Given the description of an element on the screen output the (x, y) to click on. 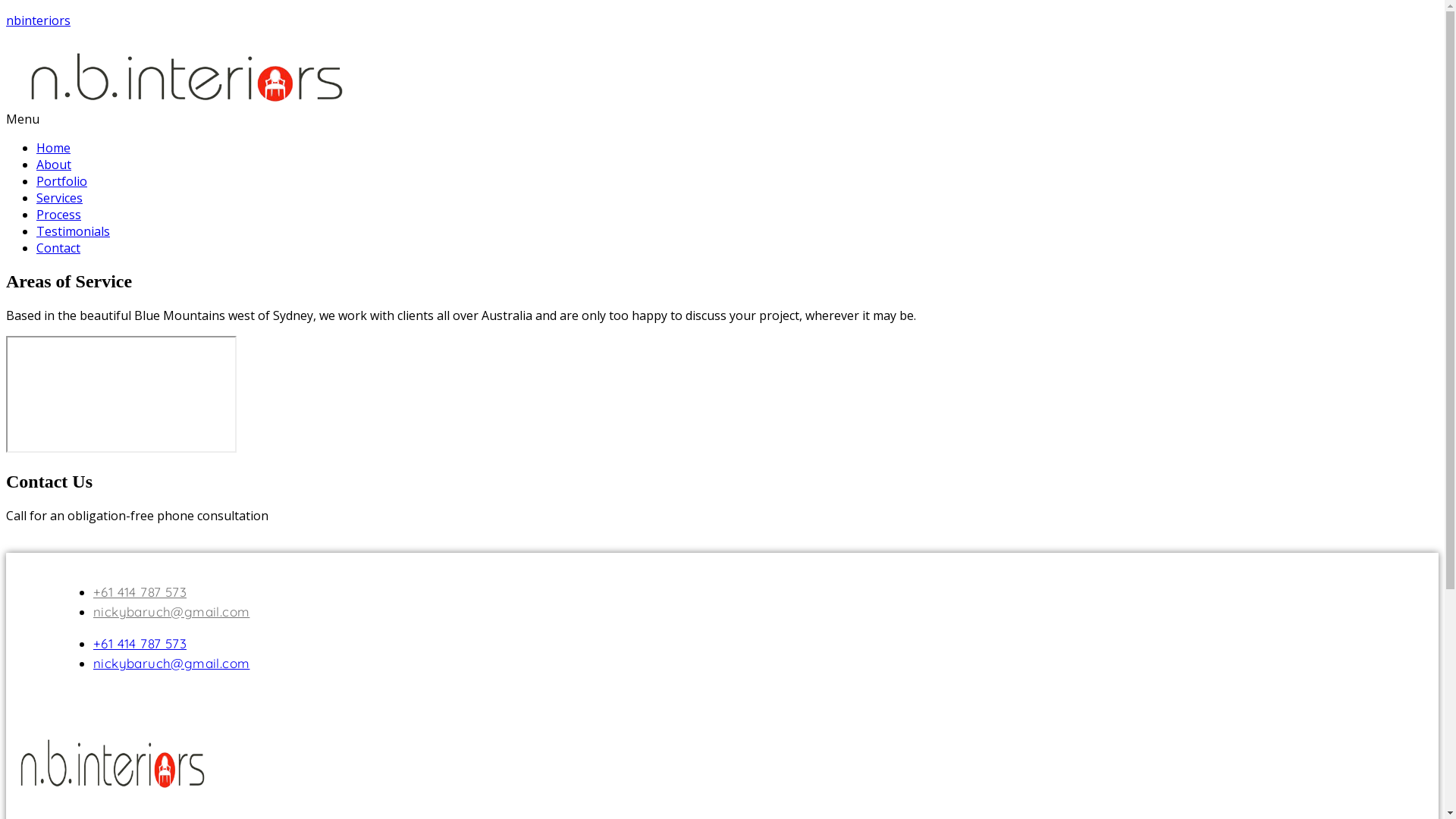
+61 414 787 573 Element type: text (139, 643)
Contact Element type: text (58, 247)
nbinteriors Element type: text (38, 20)
Process Element type: text (58, 214)
Testimonials Element type: text (72, 230)
Services Element type: text (59, 197)
nickybaruch@gmail.com Element type: text (171, 611)
sydney Element type: hover (121, 393)
+61 414 787 573 Element type: text (139, 591)
Home Element type: text (53, 147)
About Element type: text (53, 164)
nickybaruch@gmail.com Element type: text (171, 663)
Portfolio Element type: text (61, 180)
